Given the description of an element on the screen output the (x, y) to click on. 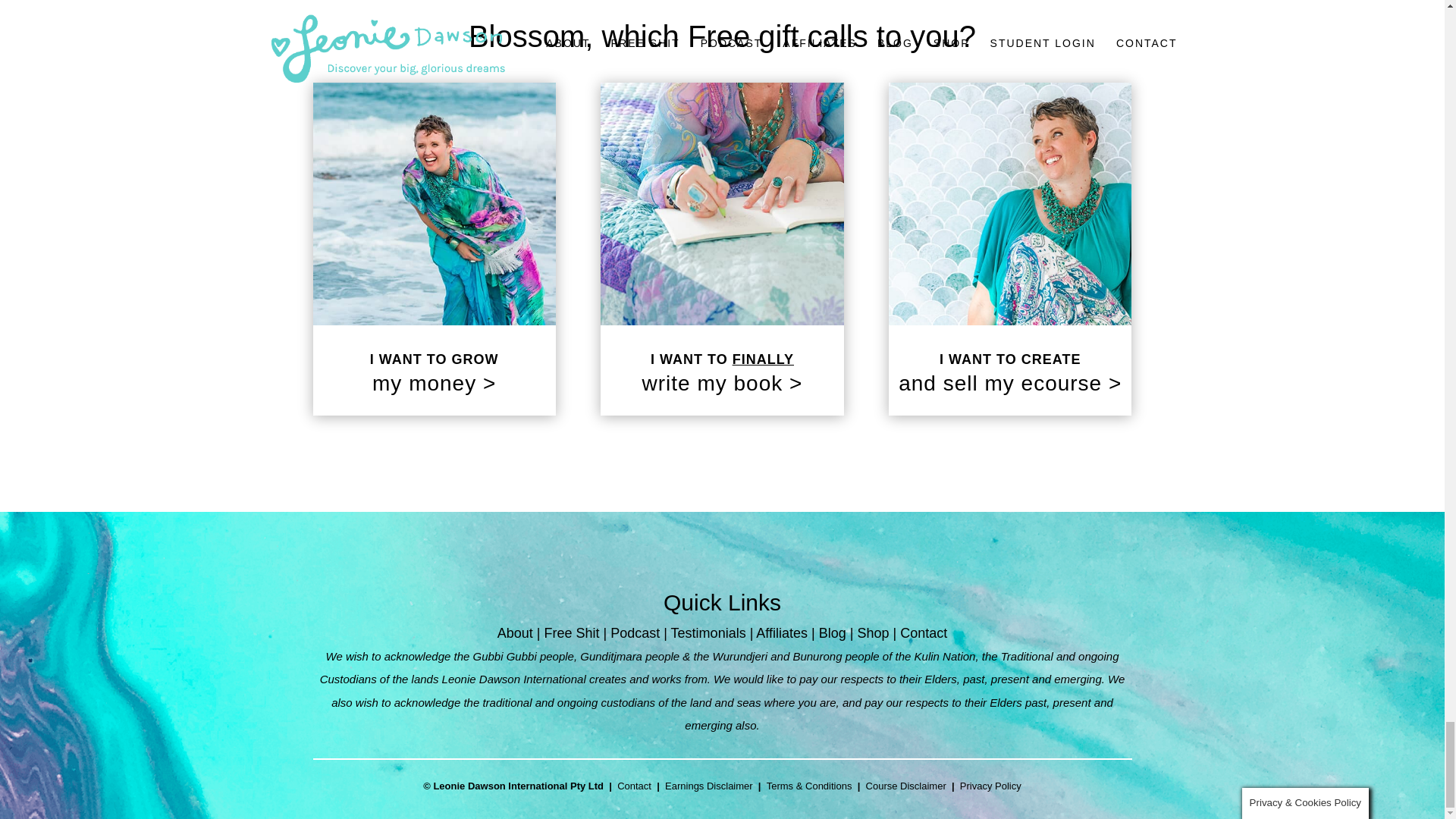
Free Shit (570, 632)
Affiliates (781, 632)
About (514, 632)
Blog (831, 632)
Testimonials (708, 632)
Contact (633, 785)
Contact (923, 632)
Shop (872, 632)
Podcast (634, 632)
